Given the description of an element on the screen output the (x, y) to click on. 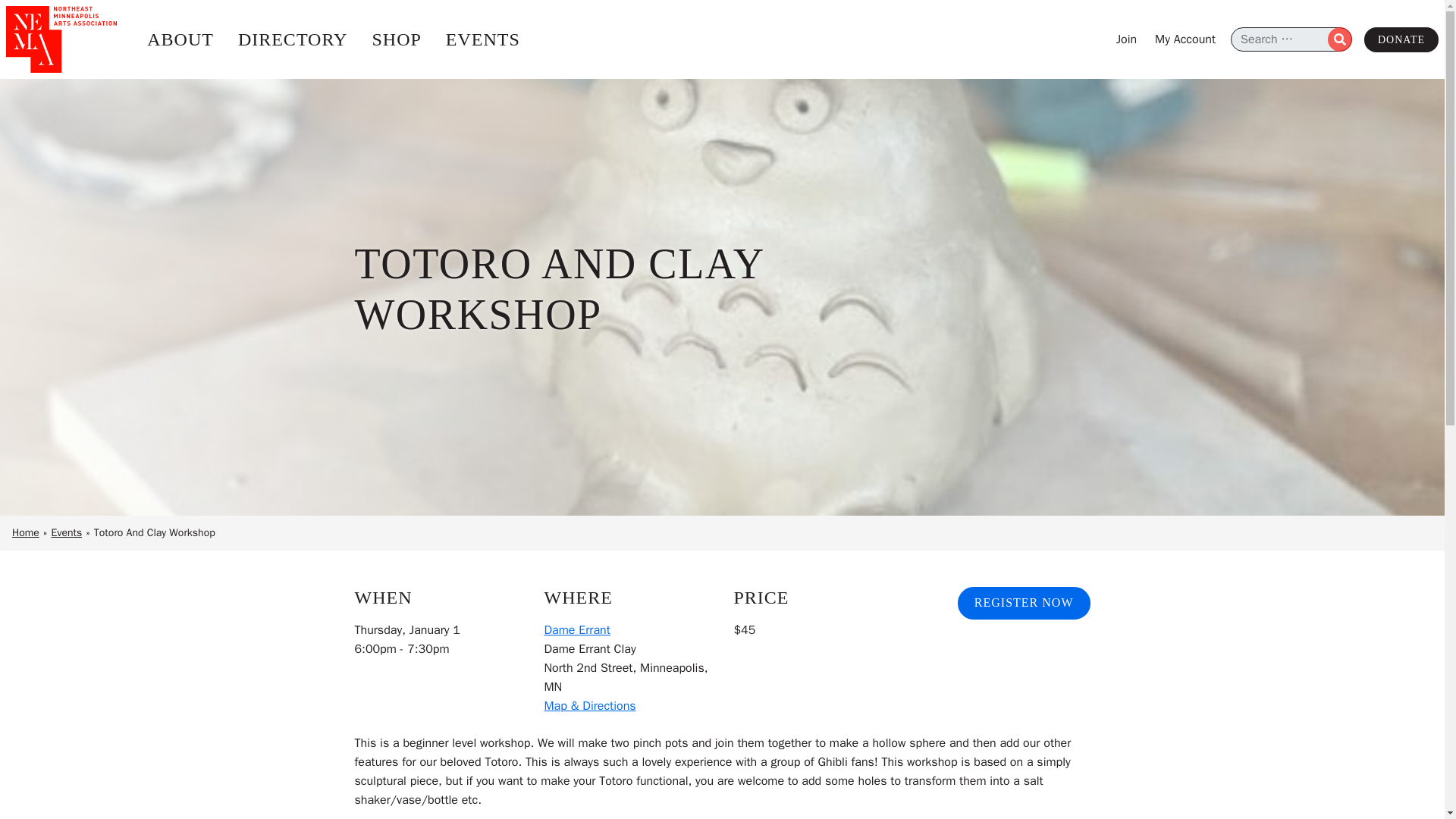
Go to NEMAA. (25, 532)
Home (25, 532)
REGISTER NOW (1024, 603)
DONATE (1401, 39)
EVENTS (482, 38)
Go to Events. (65, 532)
My Account (1184, 39)
SHOP (395, 38)
 SEARCH (1339, 39)
Join (1126, 39)
Dame Errant (577, 630)
Events (65, 532)
ABOUT (180, 38)
DIRECTORY (292, 38)
